Given the description of an element on the screen output the (x, y) to click on. 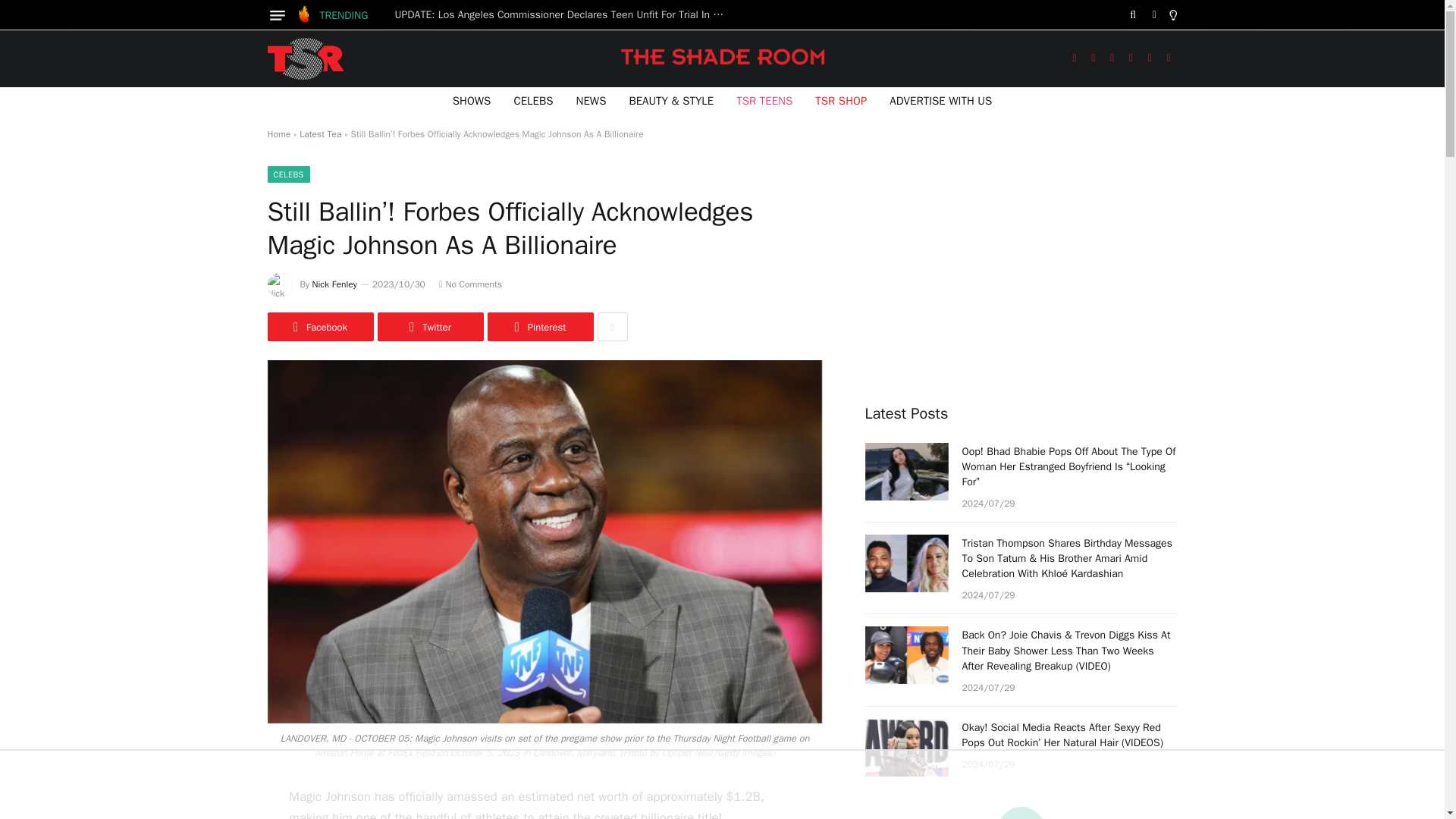
Share on Facebook (319, 326)
Share on Pinterest (539, 326)
Show More Social Sharing (611, 326)
Switch to Dark Design - easier on eyes. (1153, 14)
SHOWS (471, 99)
Posts by Nick Fenley (334, 284)
The Shade Room (304, 58)
